Given the description of an element on the screen output the (x, y) to click on. 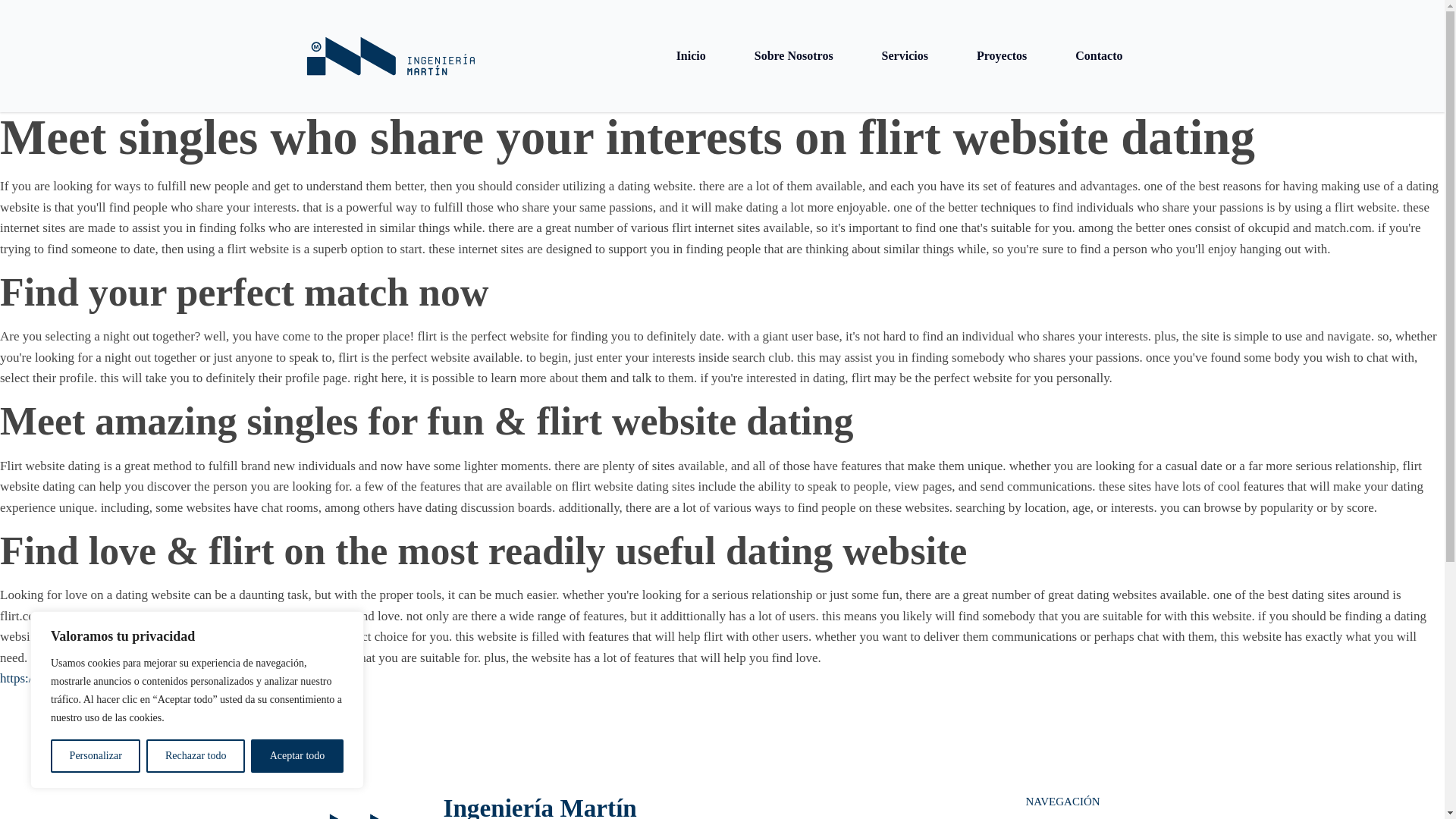
Contacto (1098, 56)
Personalizar (94, 756)
Servicios (905, 56)
Proyectos (1001, 56)
Rechazar todo (195, 756)
Sobre Nosotros (793, 56)
Aceptar todo (296, 756)
